Given the description of an element on the screen output the (x, y) to click on. 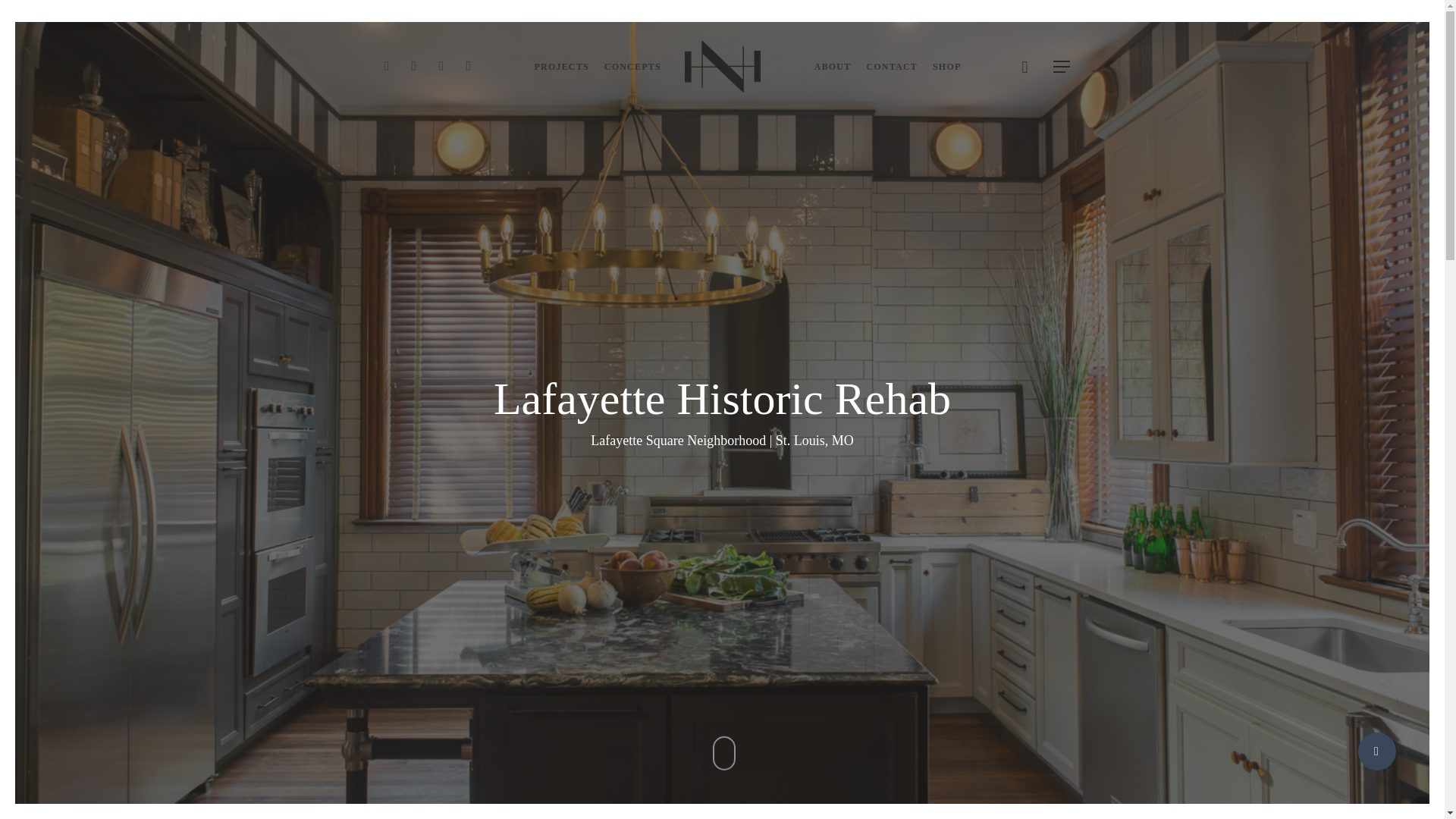
ABOUT (832, 66)
PROJECTS (561, 66)
CONCEPTS (632, 66)
SHOP (946, 66)
CONTACT (891, 66)
